Given the description of an element on the screen output the (x, y) to click on. 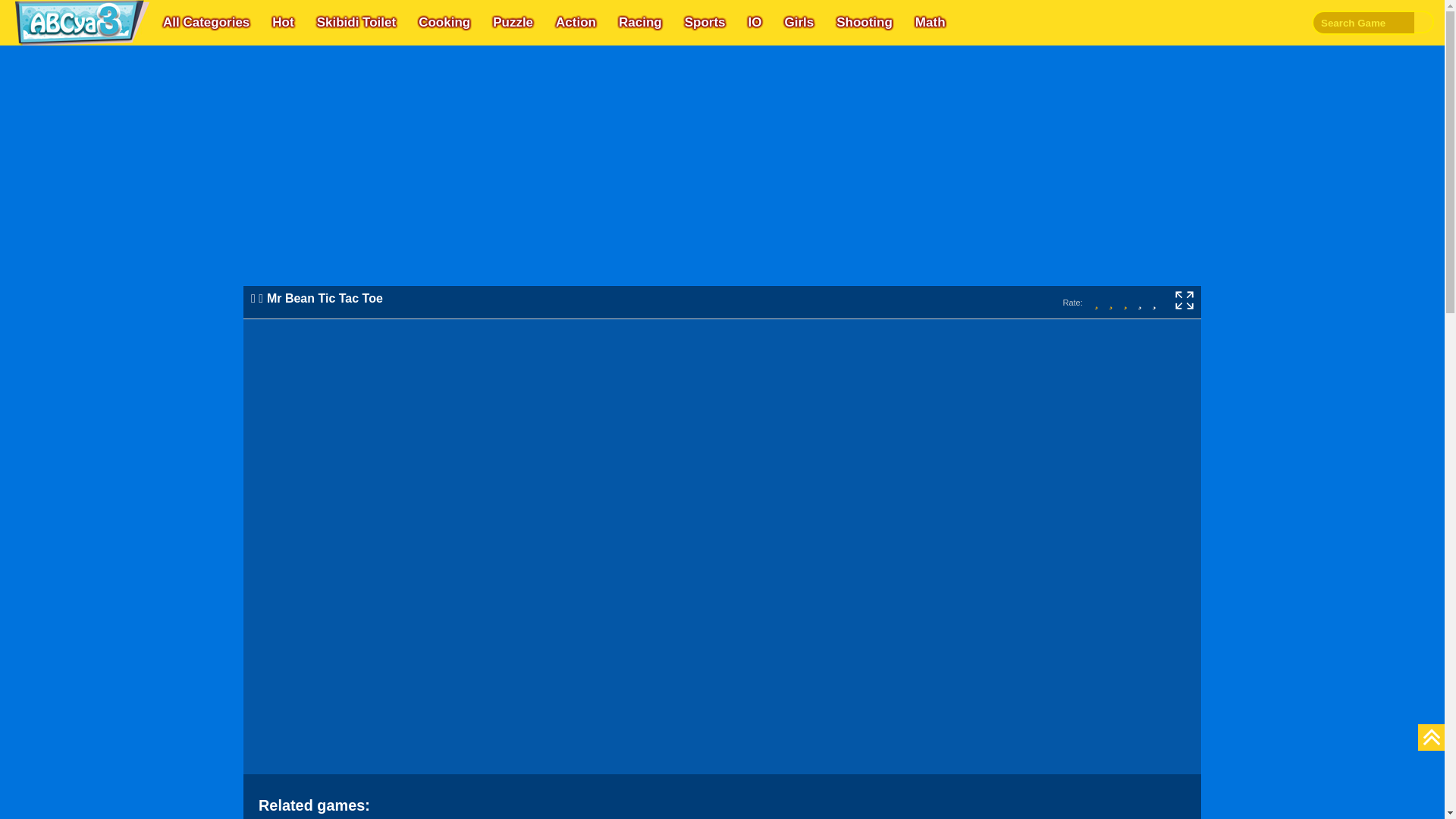
All Cateogries (206, 22)
Girls (798, 22)
Math (930, 22)
Shooting (863, 22)
Cooking (443, 22)
Puzzle (512, 22)
Girls (798, 22)
Sports (705, 22)
Advertisement (1203, 185)
